Given the description of an element on the screen output the (x, y) to click on. 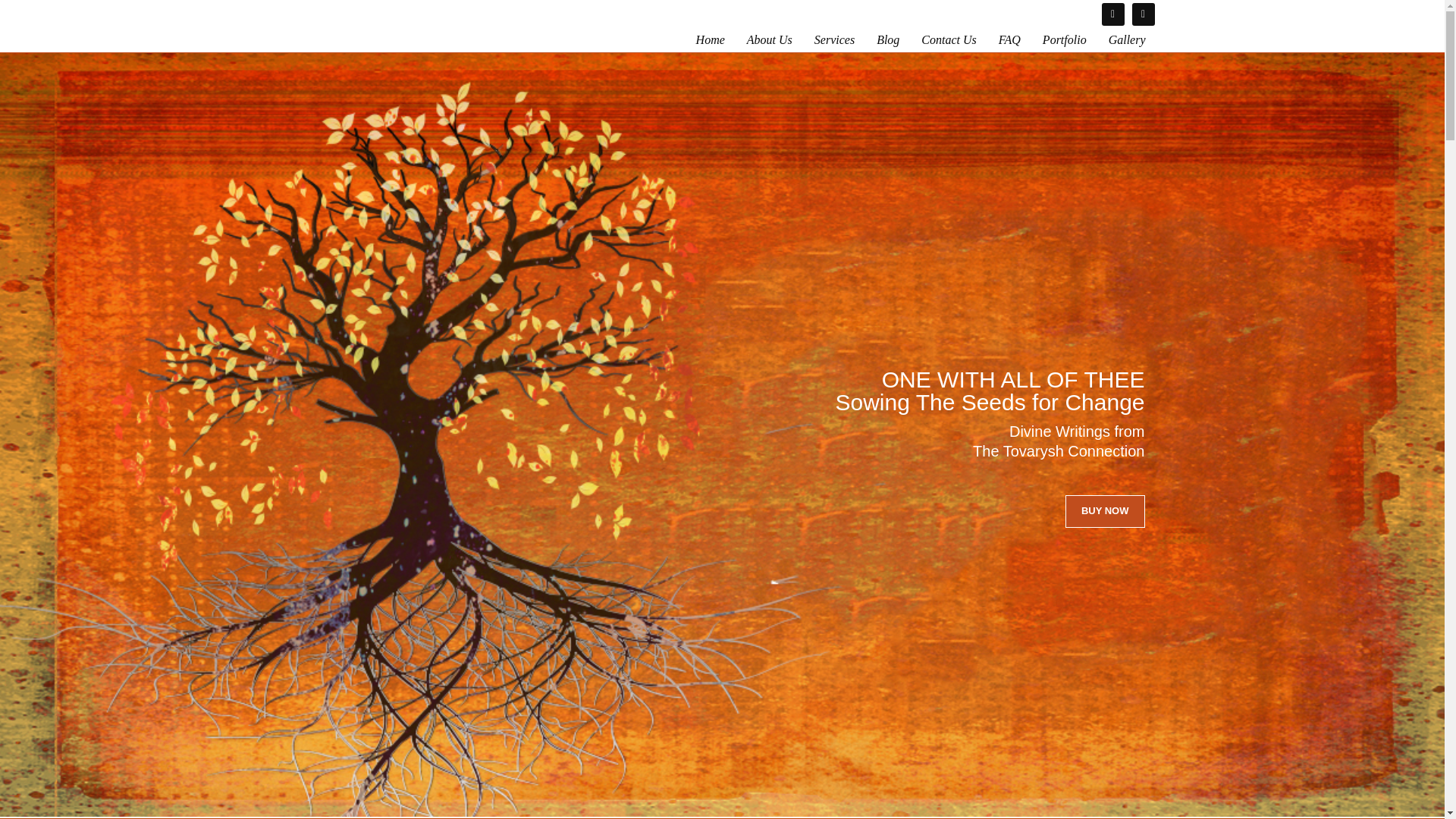
Portfolio (1064, 39)
BUY NOW (1104, 511)
Gallery (1126, 39)
FAQ (1009, 39)
Contact Us (948, 39)
BUY NOW (1104, 511)
Home (710, 39)
Blog (887, 39)
Services (834, 39)
About Us (770, 39)
